Given the description of an element on the screen output the (x, y) to click on. 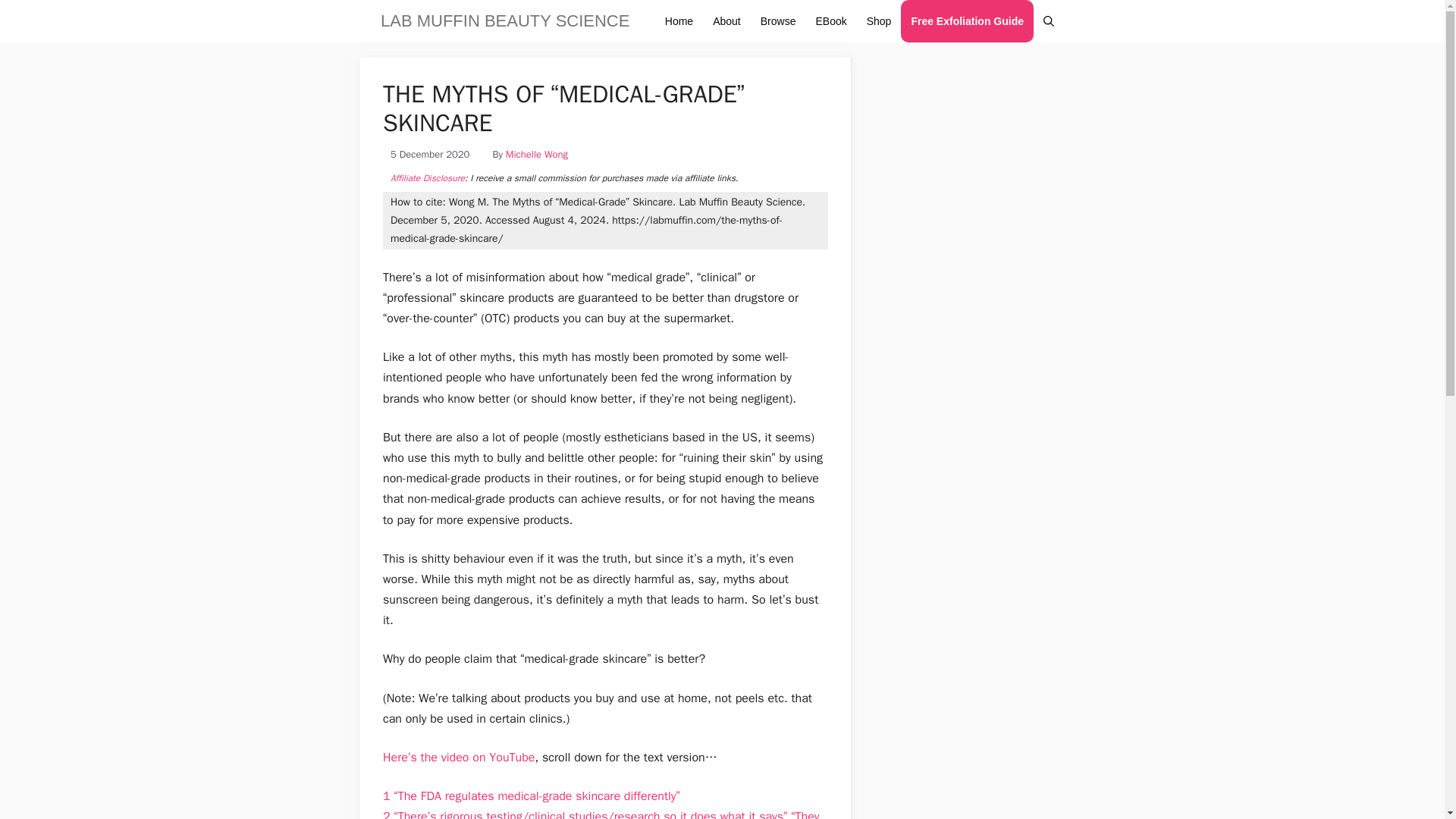
EBook (830, 21)
Browse (778, 21)
LAB MUFFIN BEAUTY SCIENCE (504, 21)
Affiliate Disclosure (427, 177)
About (727, 21)
Shop (879, 21)
Home (679, 21)
Free Exfoliation Guide (967, 21)
Michelle Wong (536, 154)
